Given the description of an element on the screen output the (x, y) to click on. 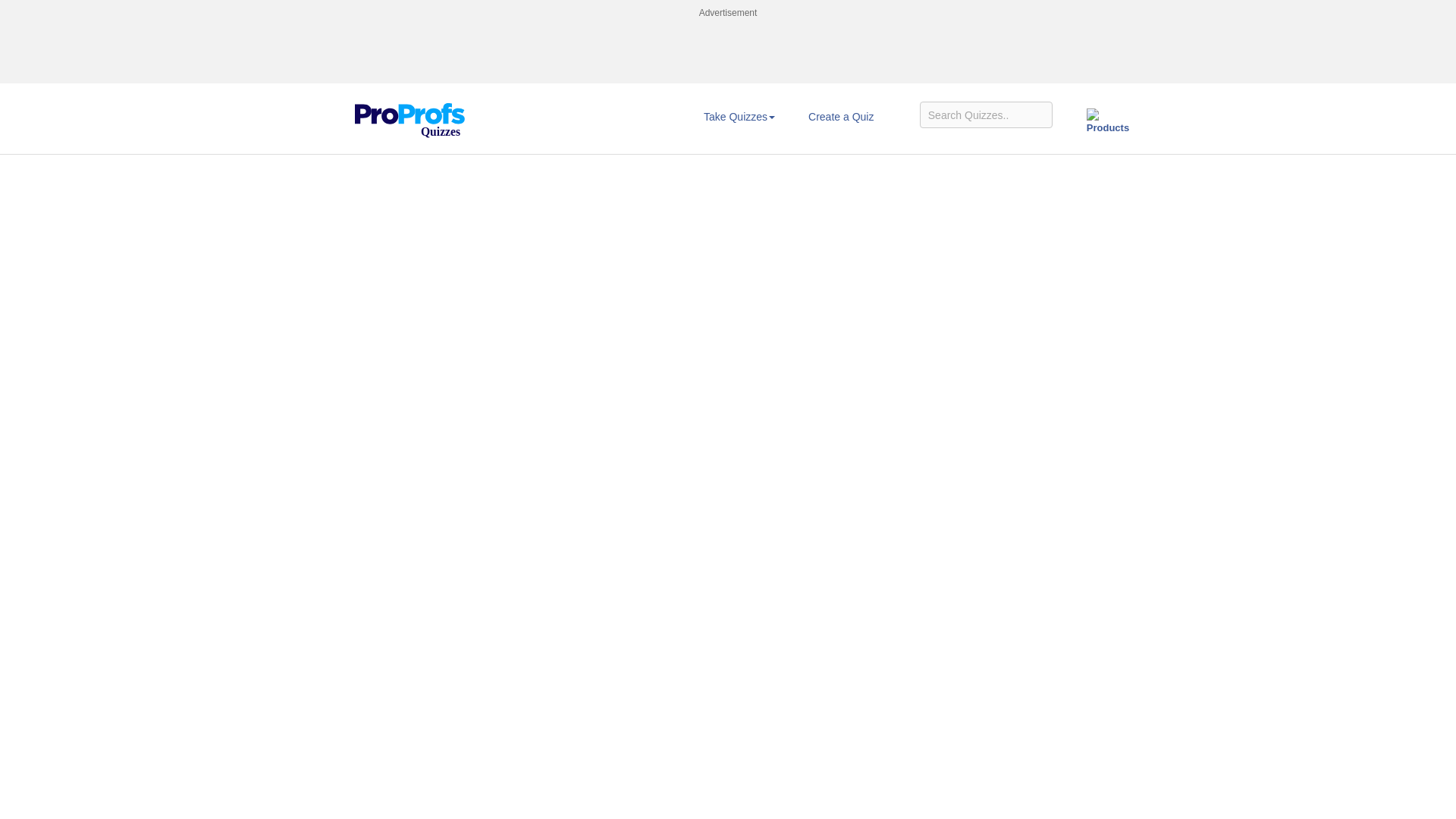
Create a Quiz (841, 116)
Take Quizzes (739, 116)
Quizzes (409, 120)
Quizzes (409, 109)
Browse (739, 116)
